Given the description of an element on the screen output the (x, y) to click on. 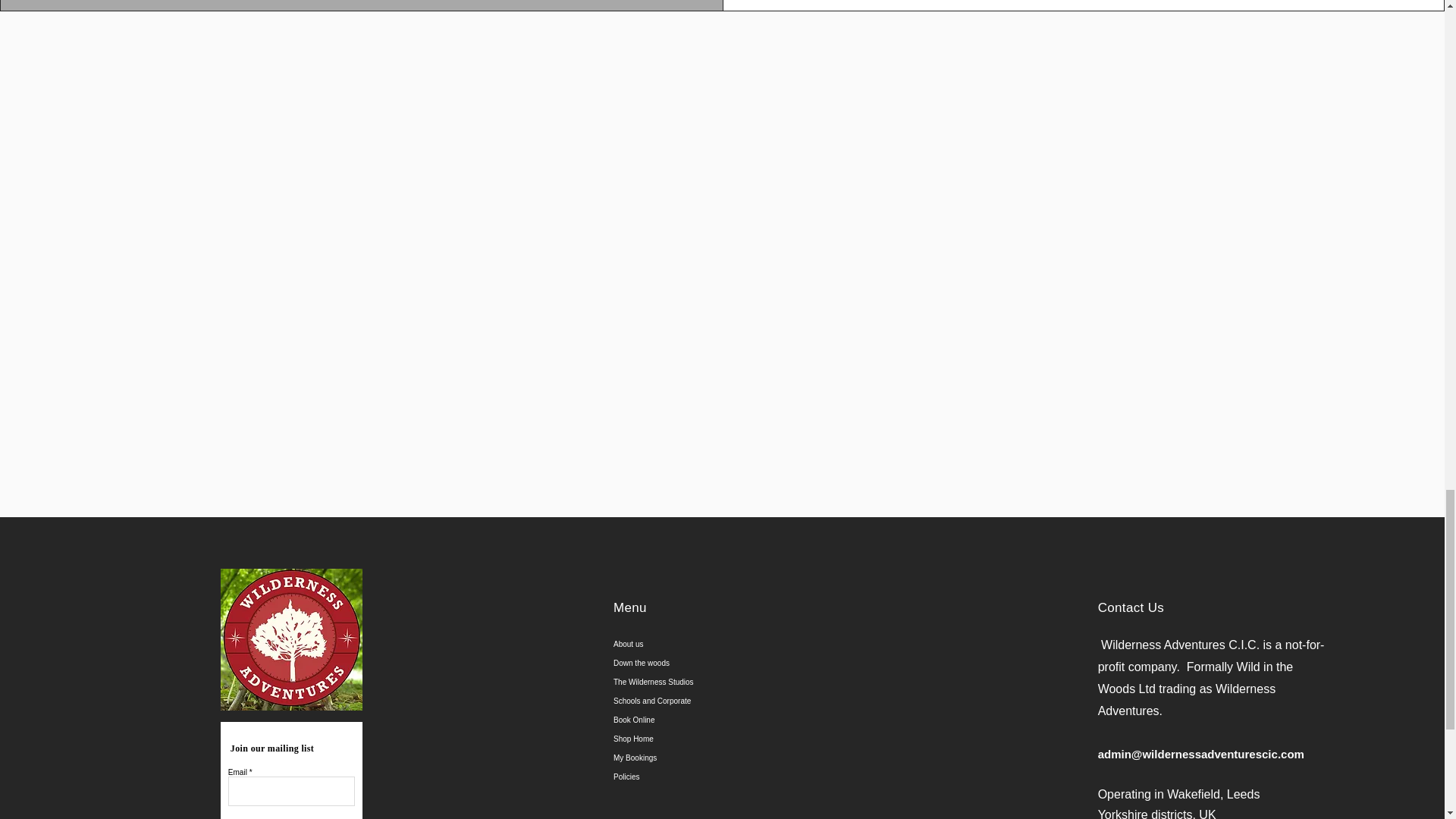
The Wilderness Studios (723, 681)
Schools and Corporate (723, 700)
Book Online (723, 719)
My Bookings (723, 757)
About us (723, 643)
Shop Home (723, 738)
Policies (723, 776)
Down the woods (723, 662)
